Given the description of an element on the screen output the (x, y) to click on. 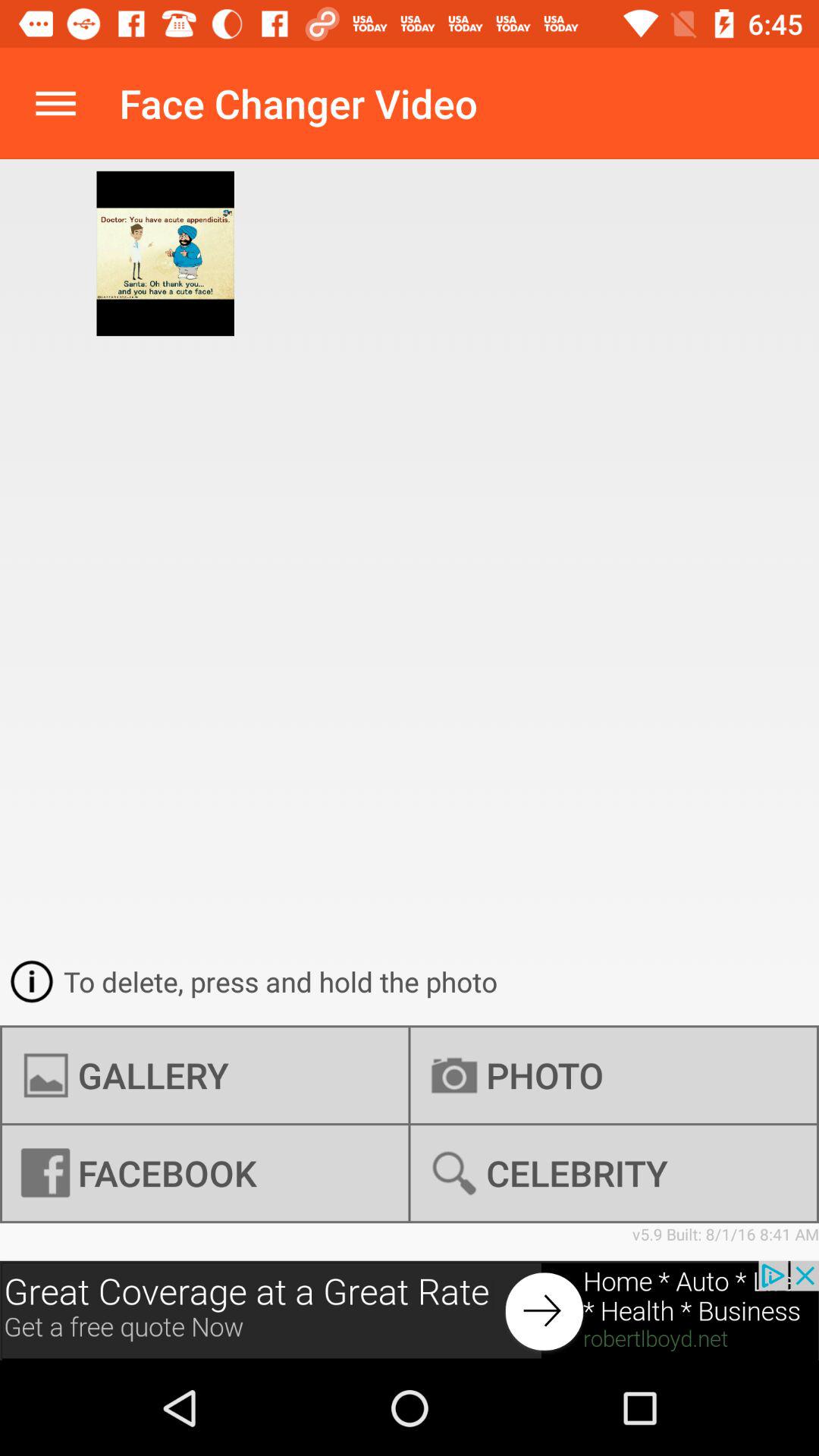
click the item to the right of the gallery icon (613, 1173)
